Given the description of an element on the screen output the (x, y) to click on. 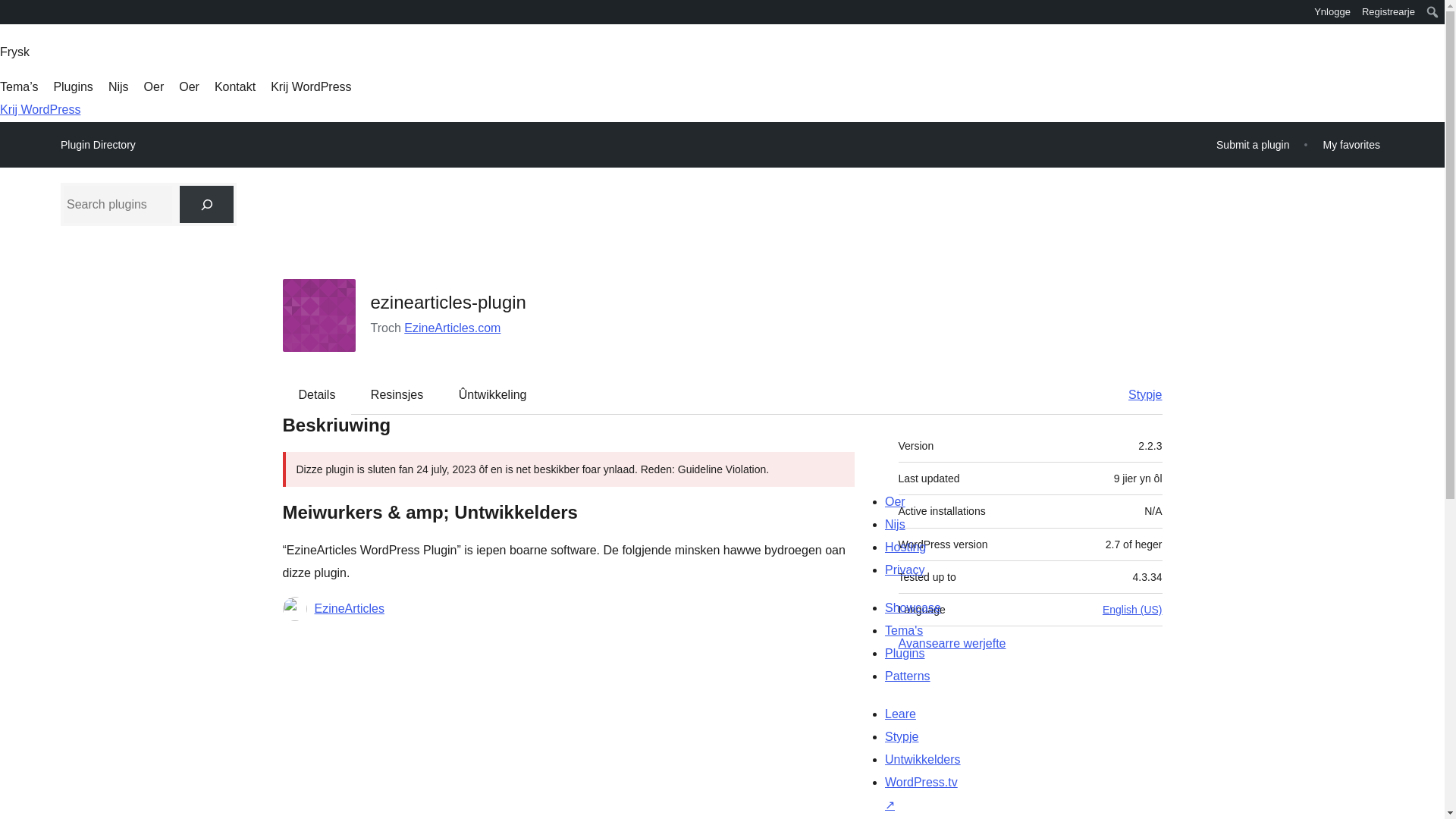
Oer (154, 87)
Nijs (118, 87)
Ynlogge (1332, 12)
WordPress.org (10, 10)
Resinsjes (396, 394)
Registrearje (1388, 12)
Krij WordPress (310, 87)
EzineArticles.com (452, 327)
EzineArticles (349, 608)
Krij WordPress (40, 109)
